Given the description of an element on the screen output the (x, y) to click on. 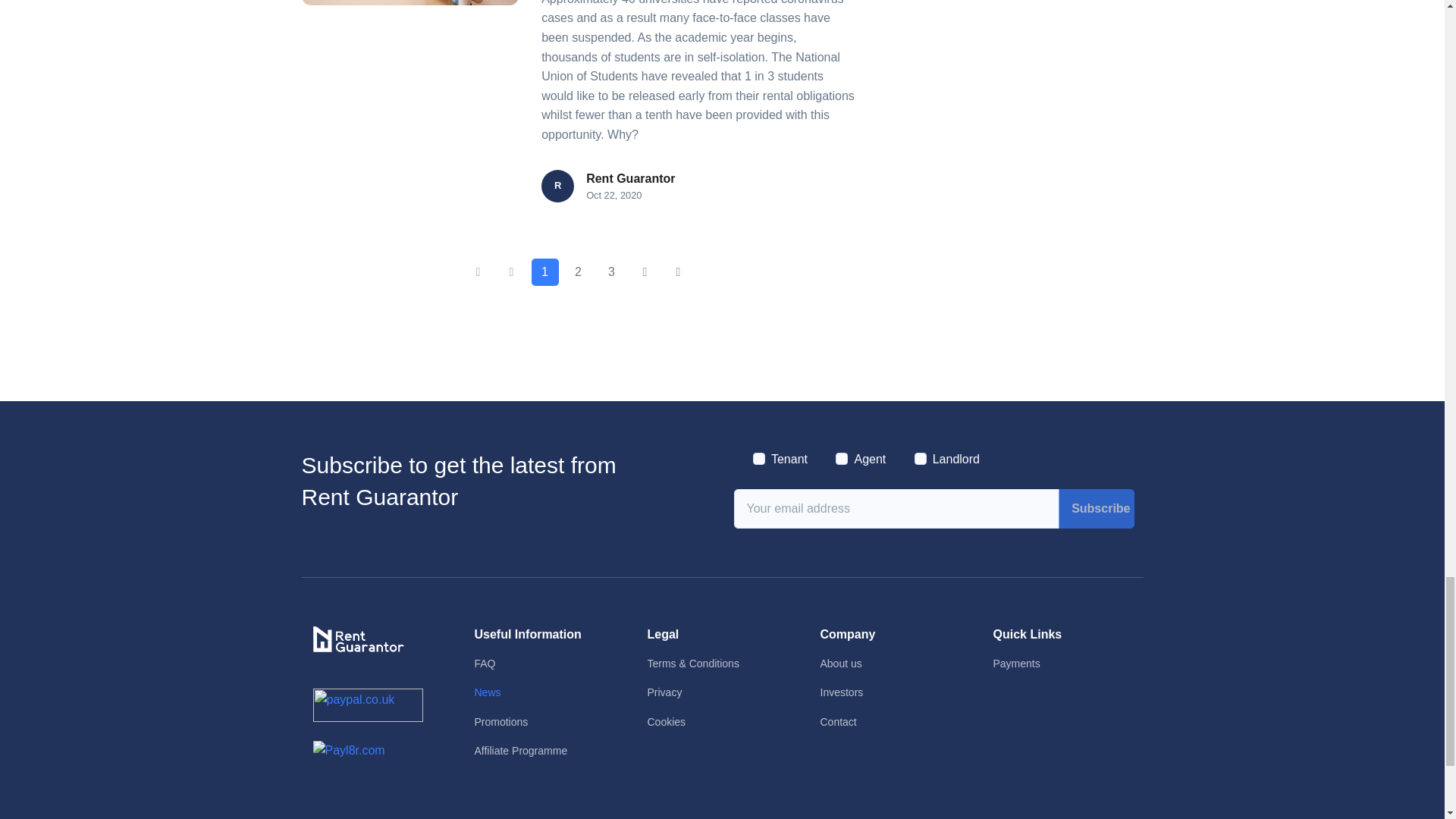
Payl8r.com (348, 750)
Subscribe (1096, 508)
paypal.co.uk (367, 704)
